Given the description of an element on the screen output the (x, y) to click on. 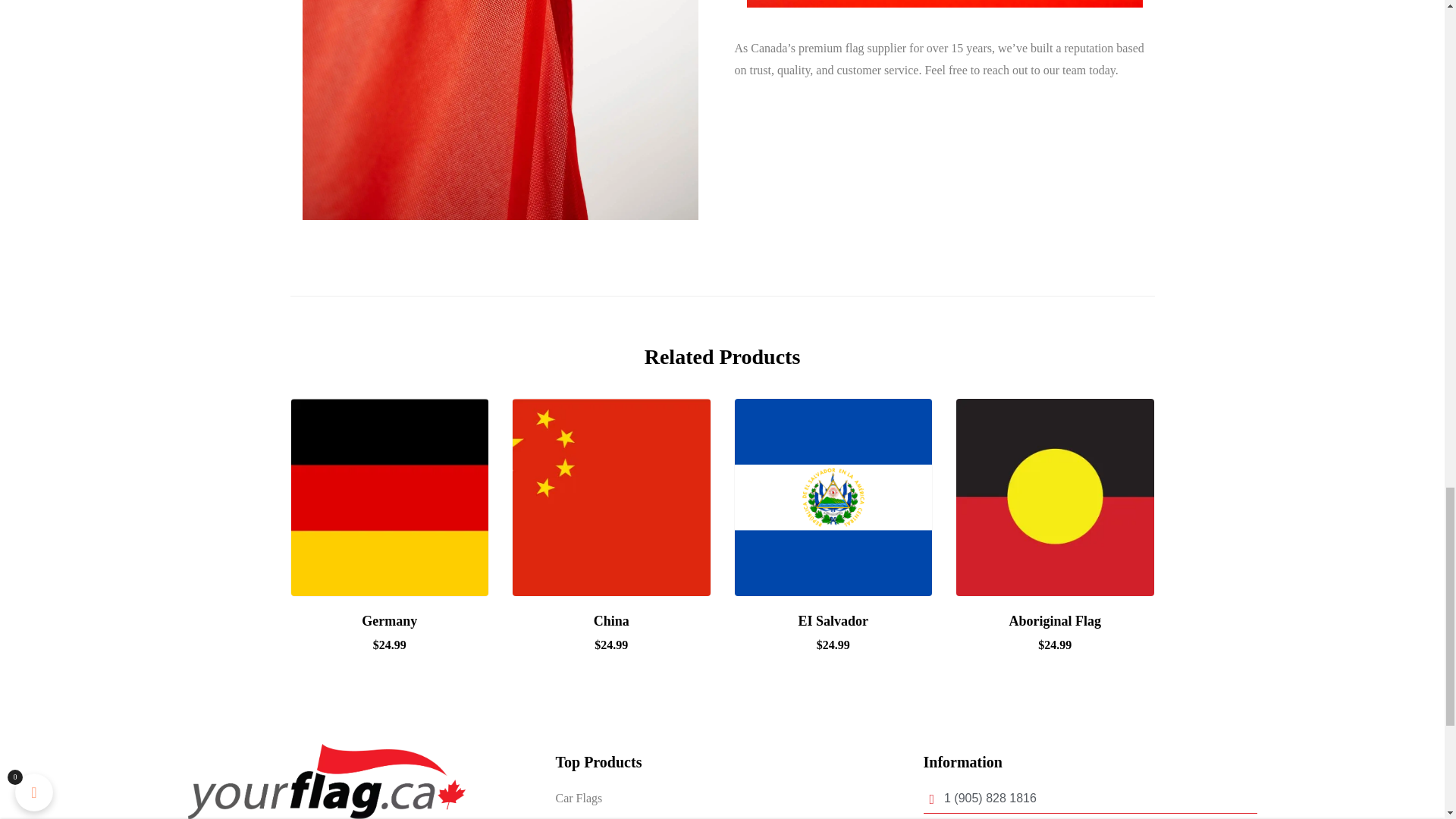
DSC03869 (943, 3)
